Given the description of an element on the screen output the (x, y) to click on. 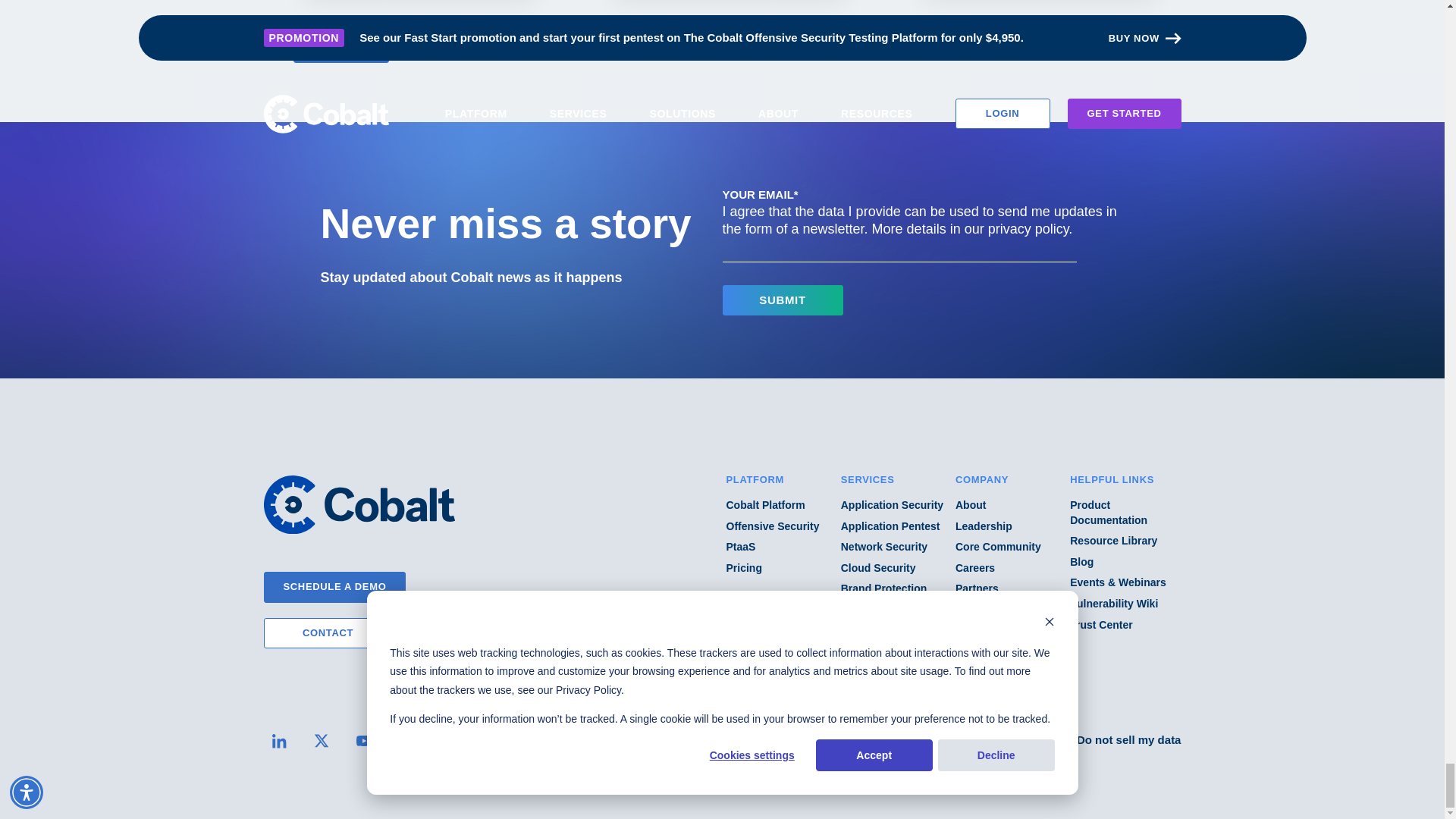
Submit (782, 300)
Never miss a story (521, 224)
